Given the description of an element on the screen output the (x, y) to click on. 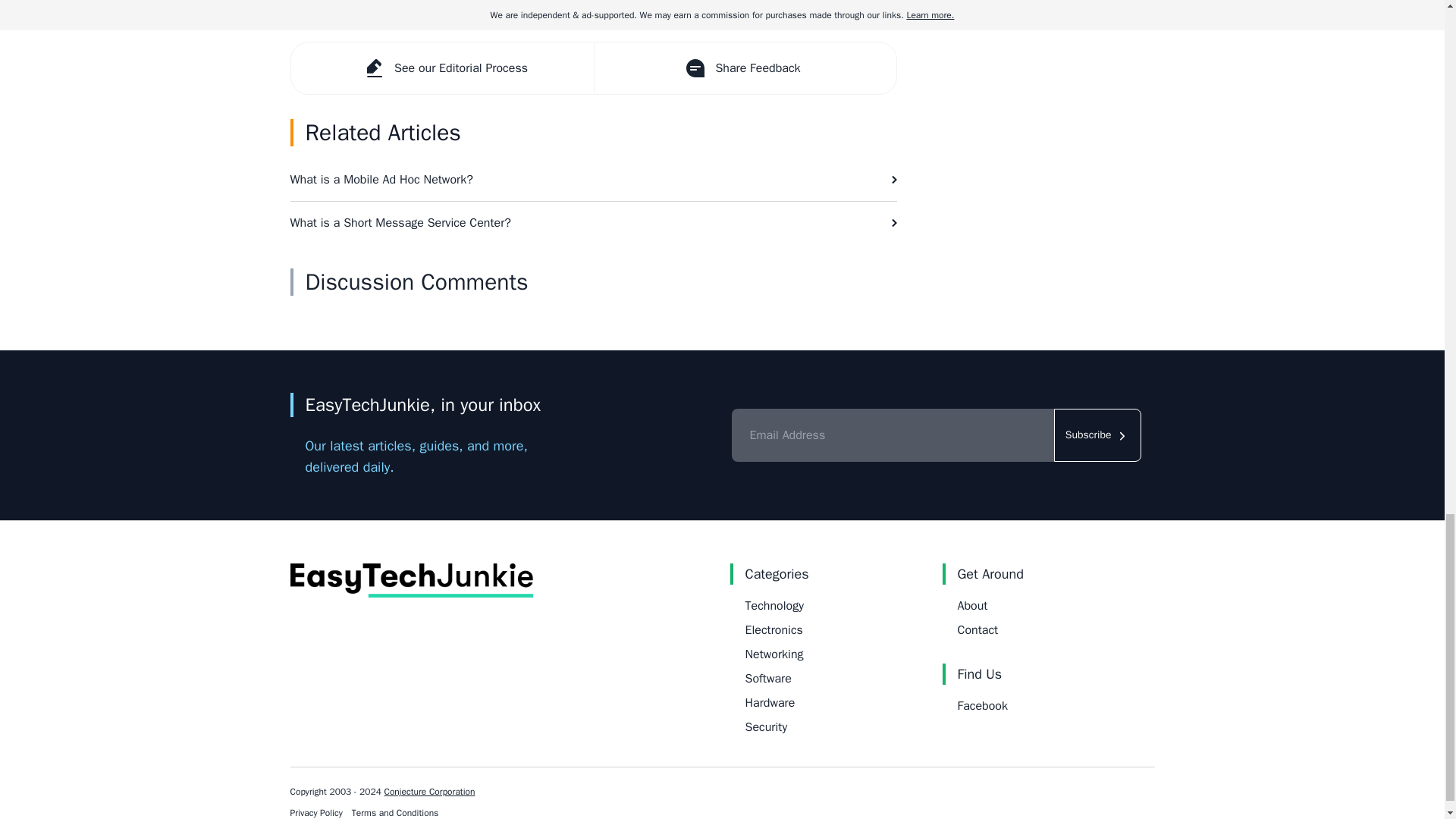
See our Editorial Process (442, 68)
What is a Mobile Ad Hoc Network? (592, 179)
Share Feedback (743, 68)
